Given the description of an element on the screen output the (x, y) to click on. 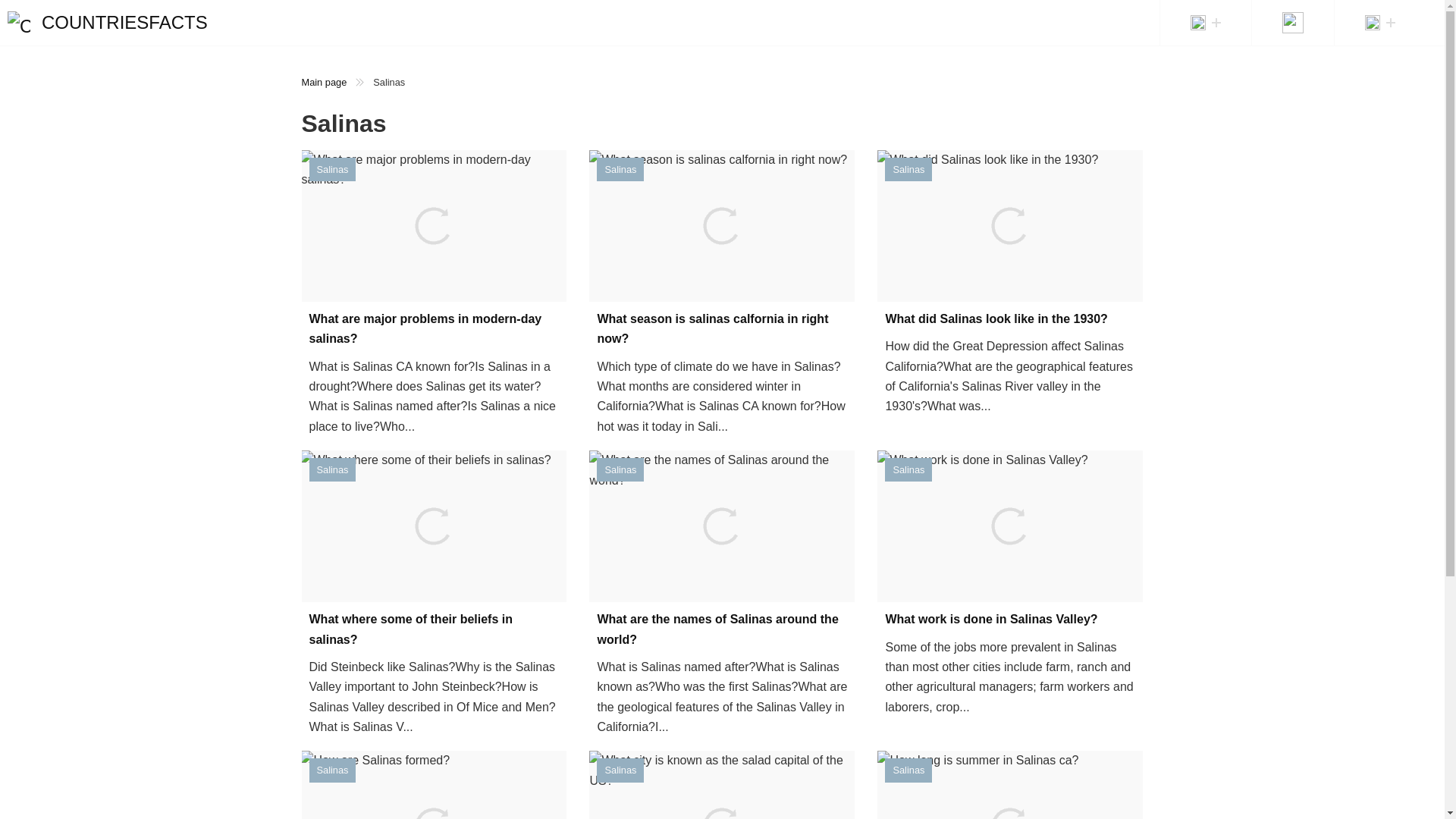
Salinas (908, 169)
What are the names of Salinas around the world? (721, 629)
Salinas (619, 469)
What season is salinas calfornia in right now? (721, 329)
COUNTRIESFACTS (107, 22)
Salinas (619, 169)
Salinas (908, 469)
Salinas (332, 169)
Salinas (332, 770)
What did Salinas look like in the 1930? (1010, 319)
